Given the description of an element on the screen output the (x, y) to click on. 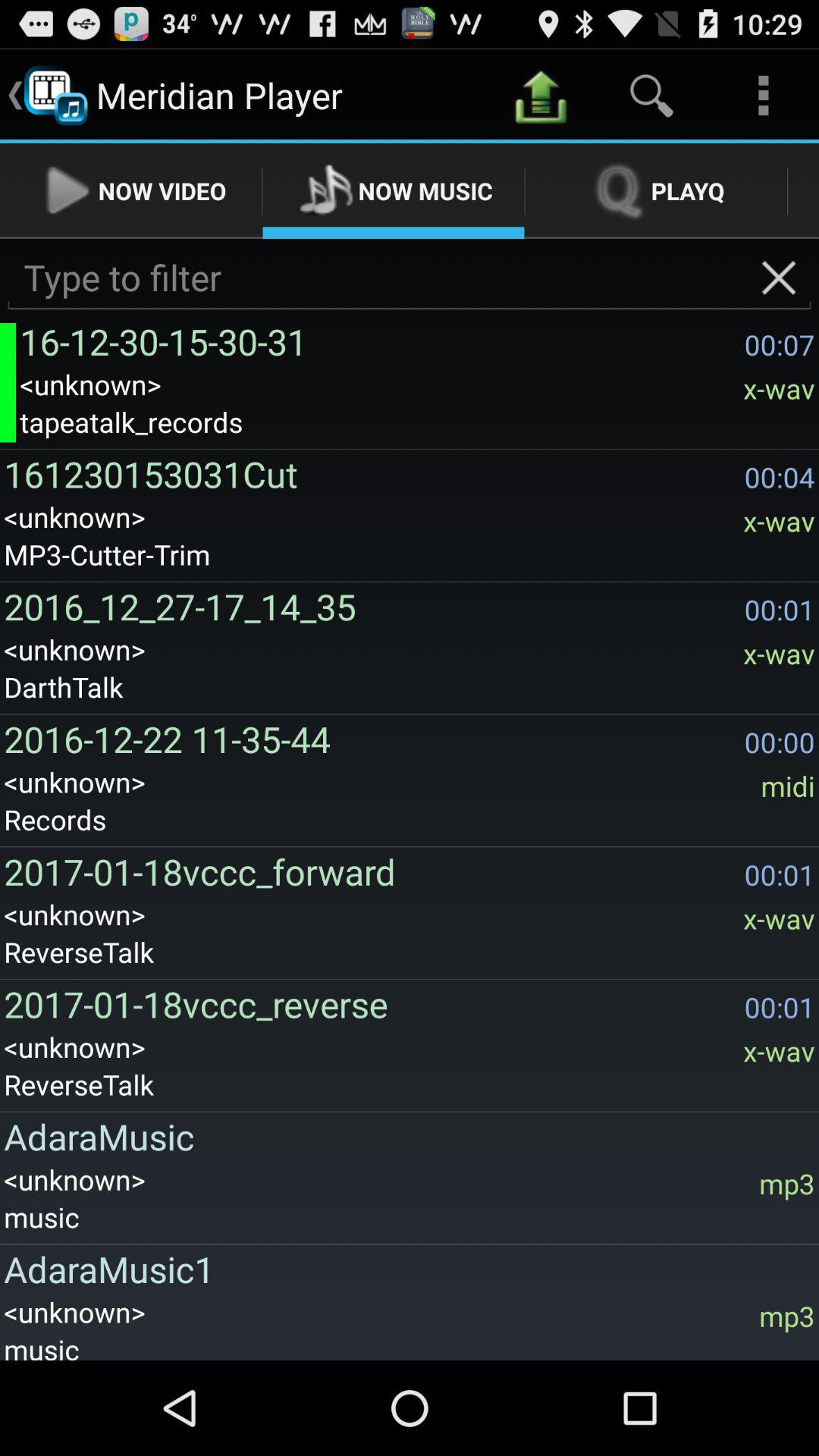
quit for menu (778, 277)
